Given the description of an element on the screen output the (x, y) to click on. 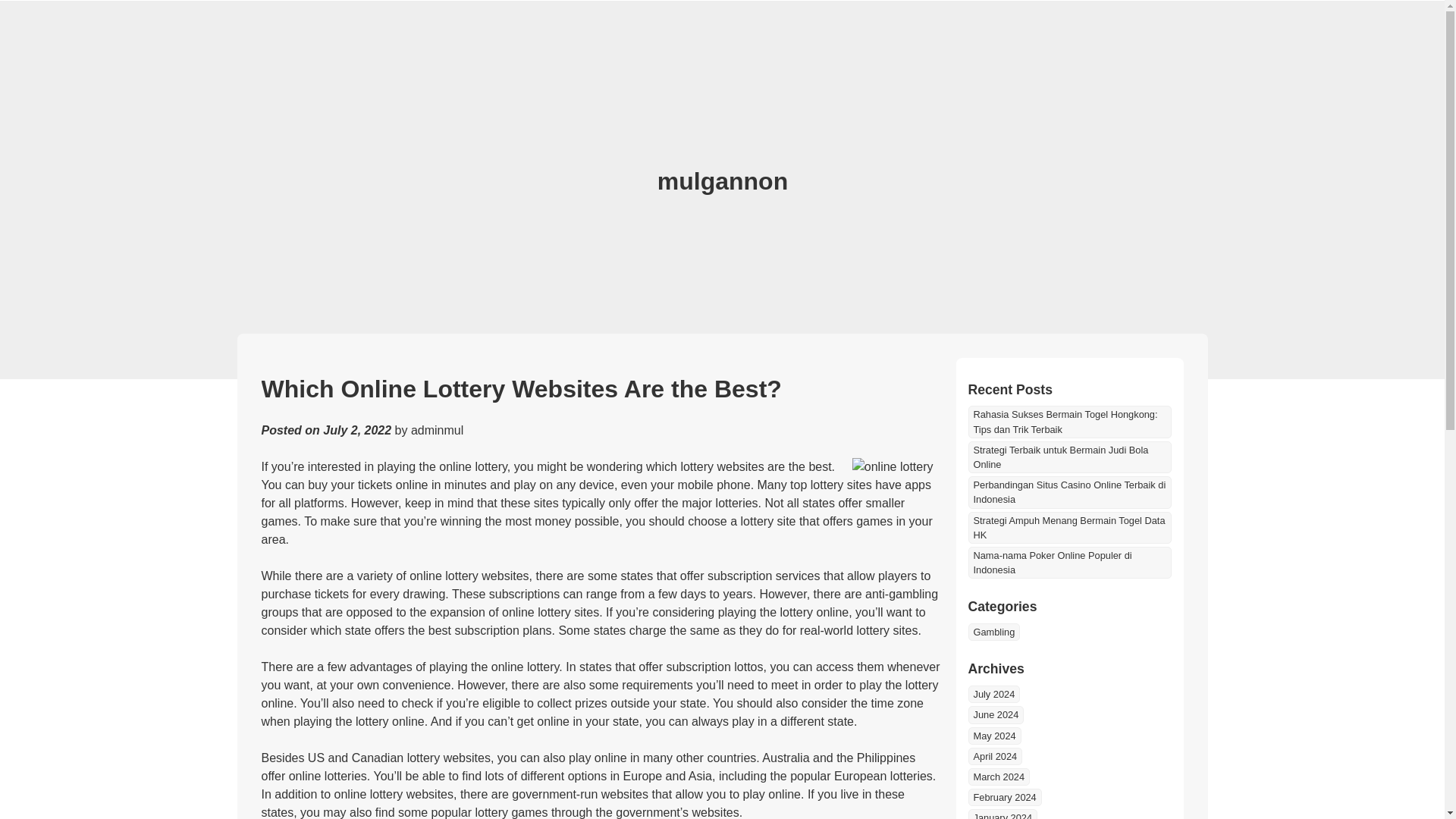
July 2024 (994, 693)
Perbandingan Situs Casino Online Terbaik di Indonesia (1069, 491)
Strategi Ampuh Menang Bermain Togel Data HK (1069, 527)
February 2024 (1004, 796)
Gambling (994, 631)
April 2024 (995, 755)
Rahasia Sukses Bermain Togel Hongkong: Tips dan Trik Terbaik (1069, 421)
July 2, 2022 (357, 430)
January 2024 (1002, 814)
June 2024 (995, 714)
May 2024 (994, 735)
March 2024 (998, 776)
adminmul (436, 430)
Strategi Terbaik untuk Bermain Judi Bola Online (1069, 457)
Nama-nama Poker Online Populer di Indonesia (1069, 562)
